Given the description of an element on the screen output the (x, y) to click on. 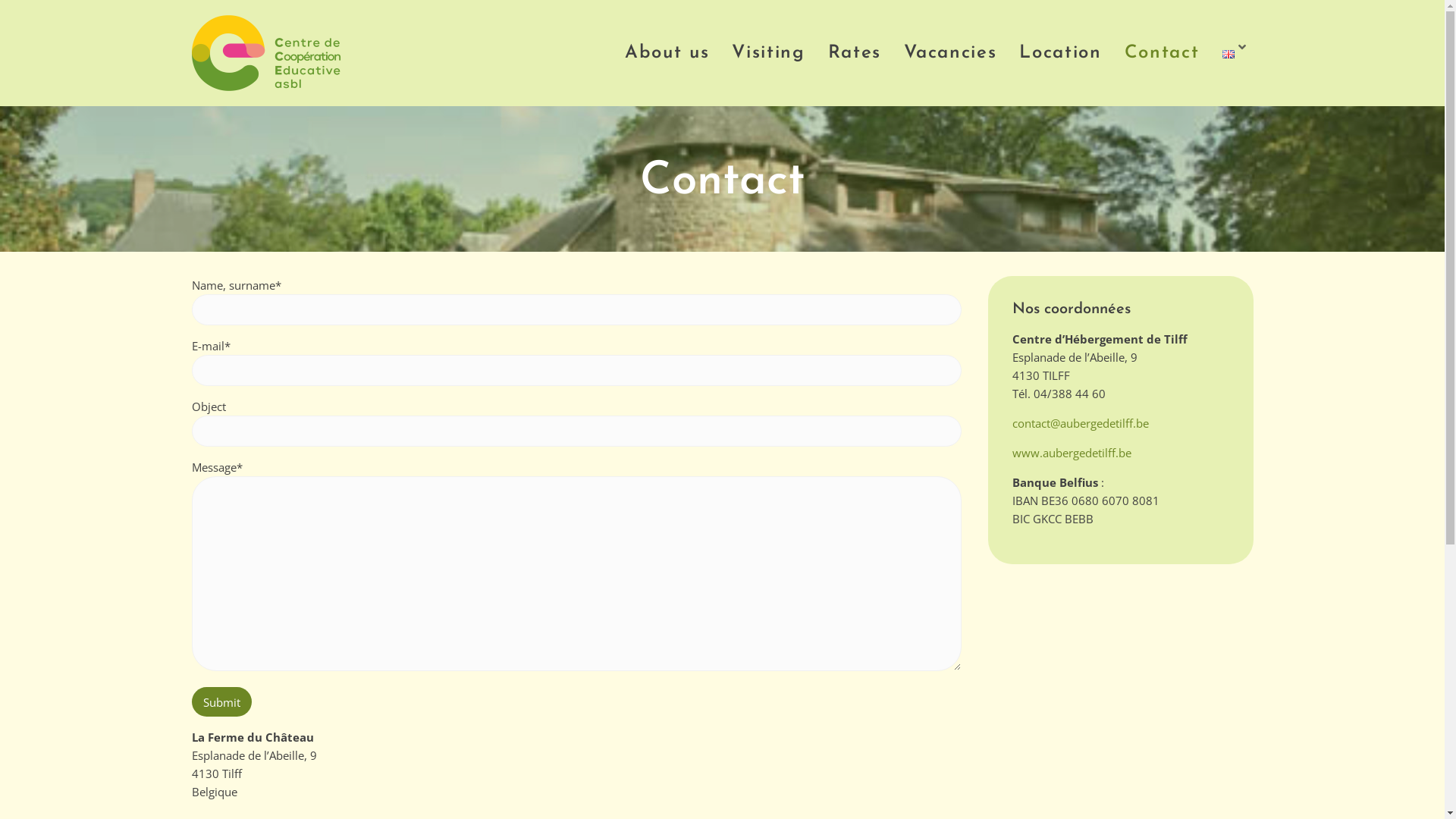
www.aubergedetilff.be Element type: text (1070, 452)
Vacancies Element type: text (949, 53)
Contact Element type: text (1162, 53)
Location Element type: text (1059, 53)
Submit Element type: text (221, 701)
Rates Element type: text (854, 53)
About us Element type: text (666, 53)
Visiting Element type: text (767, 53)
contact@aubergedetilff.be Element type: text (1079, 422)
